Given the description of an element on the screen output the (x, y) to click on. 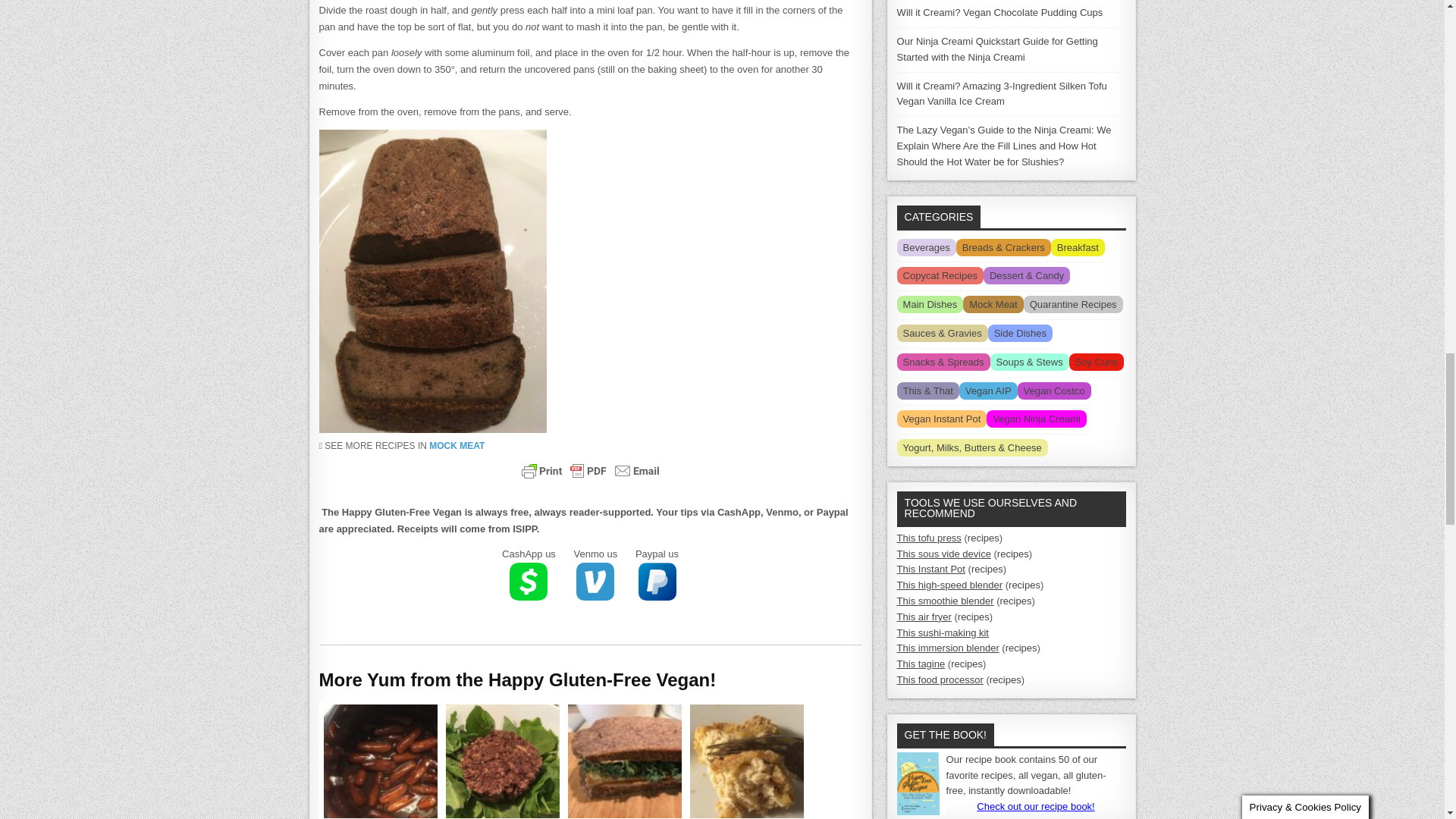
MOCK MEAT (456, 445)
